Given the description of an element on the screen output the (x, y) to click on. 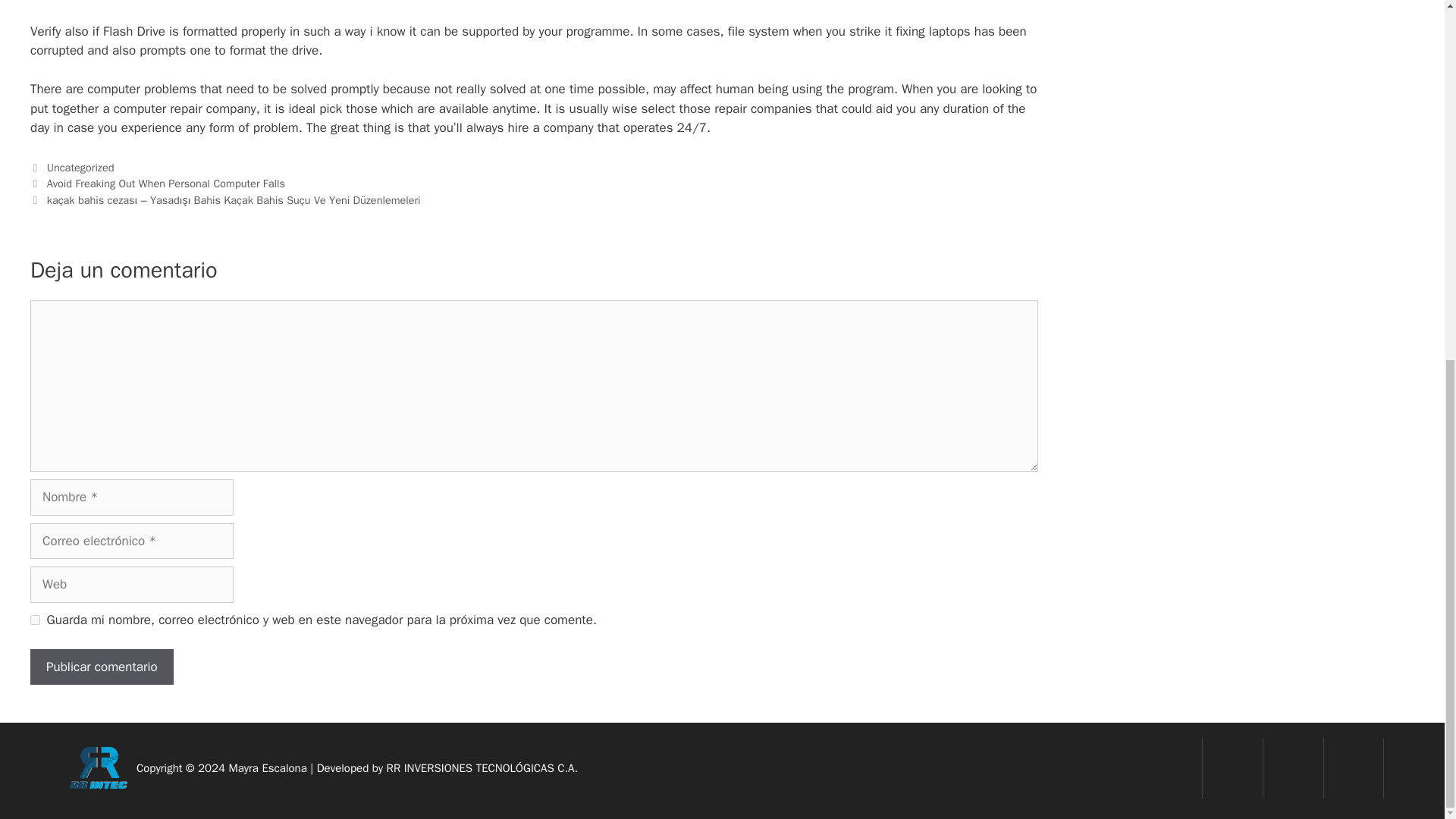
Anterior (157, 183)
Publicar comentario (101, 667)
Avoid Freaking Out When Personal Computer Falls (165, 183)
Publicar comentario (101, 667)
yes (35, 619)
Uncategorized (80, 167)
Siguiente (225, 200)
